Given the description of an element on the screen output the (x, y) to click on. 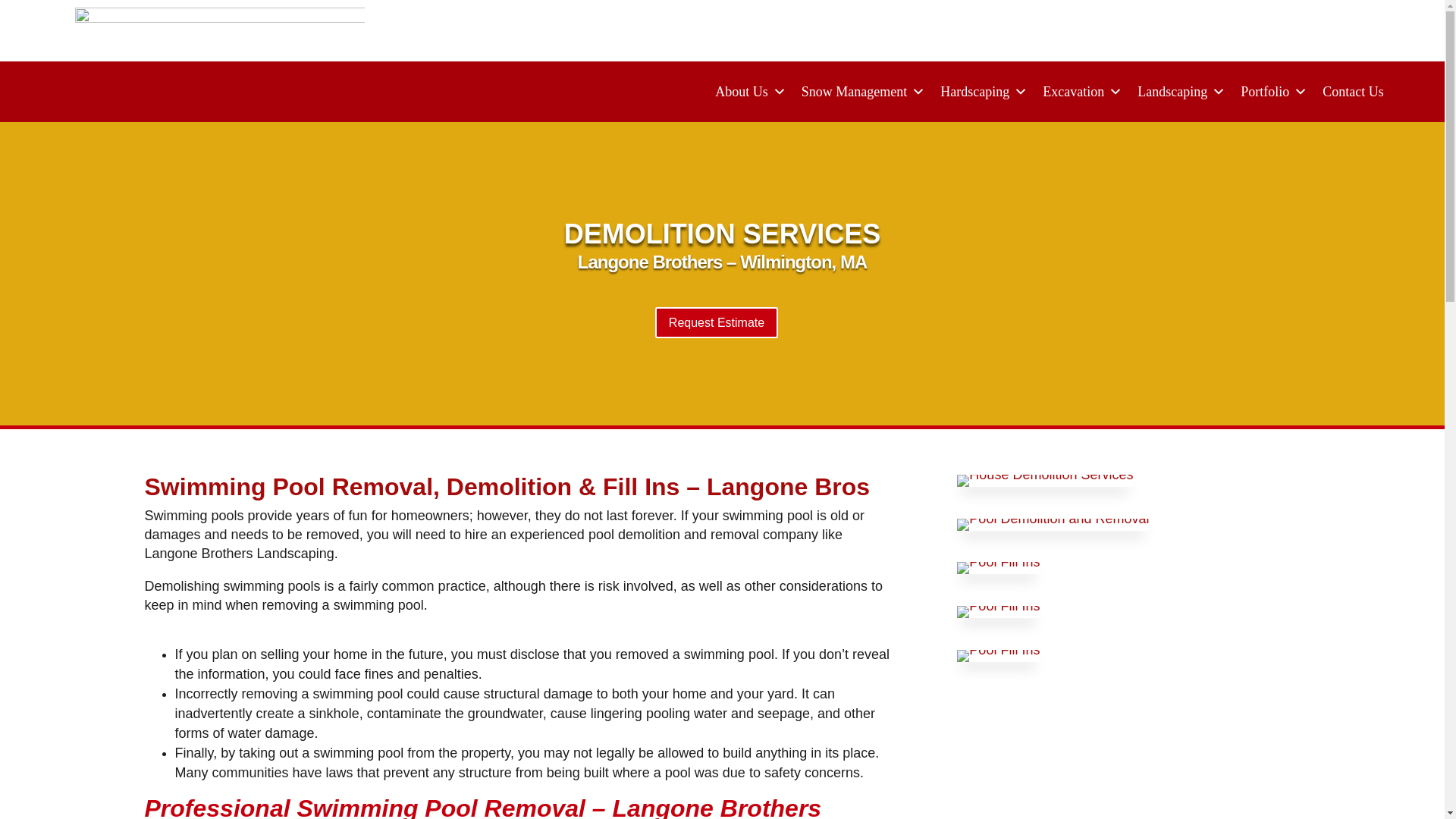
Pool Fill Ins (997, 567)
Snow Management (855, 91)
Pool Fill Ins (997, 612)
Home Demolition Services (1044, 480)
Pool Demolition and Removal (1052, 524)
About Us (743, 91)
Excavation (1074, 91)
Pool Fill Ins (997, 605)
House Demolition Services (1044, 474)
Pool Fill Ins (997, 649)
